Given the description of an element on the screen output the (x, y) to click on. 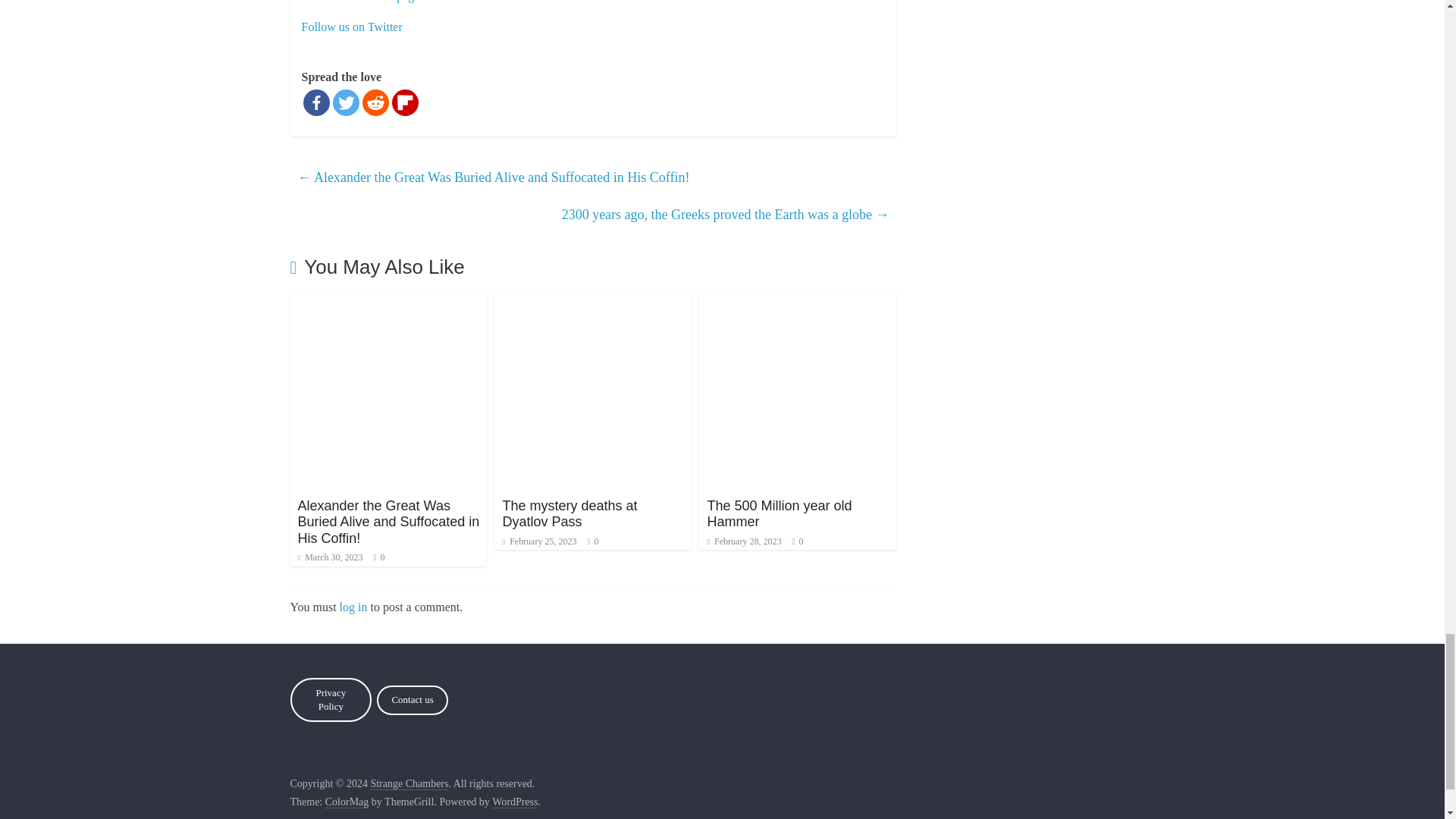
Follow us on Twitter (352, 26)
Facebook (316, 102)
Twitter (344, 102)
February 28, 2023 (743, 541)
March 30, 2023 (329, 557)
Visit our Facebook page (360, 1)
The mystery deaths at Dyatlov Pass (569, 513)
February 25, 2023 (539, 541)
The 500 Million year old Hammer (778, 513)
